Given the description of an element on the screen output the (x, y) to click on. 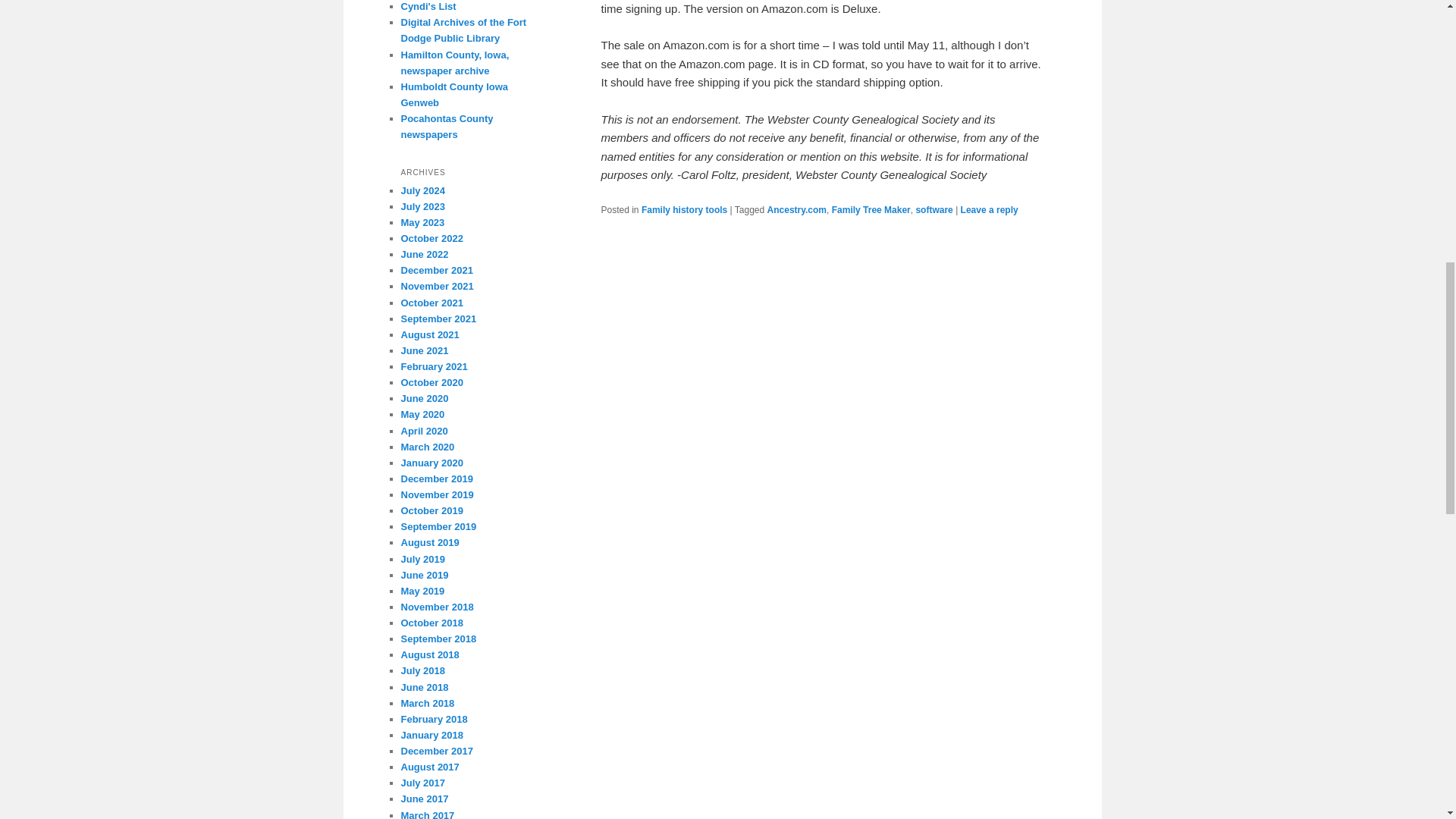
Leave a reply (988, 209)
Pocahontas County, Iowa, newspapers from 1884 through 2012 (446, 126)
Digital Archives of the Fort Dodge Public Library (462, 30)
Cyndi's List (427, 6)
Family Tree Maker (871, 209)
Family history tools (684, 209)
software (933, 209)
Digitized newspapers from 1857 through 2012 (454, 62)
Ancestry.com (797, 209)
